Given the description of an element on the screen output the (x, y) to click on. 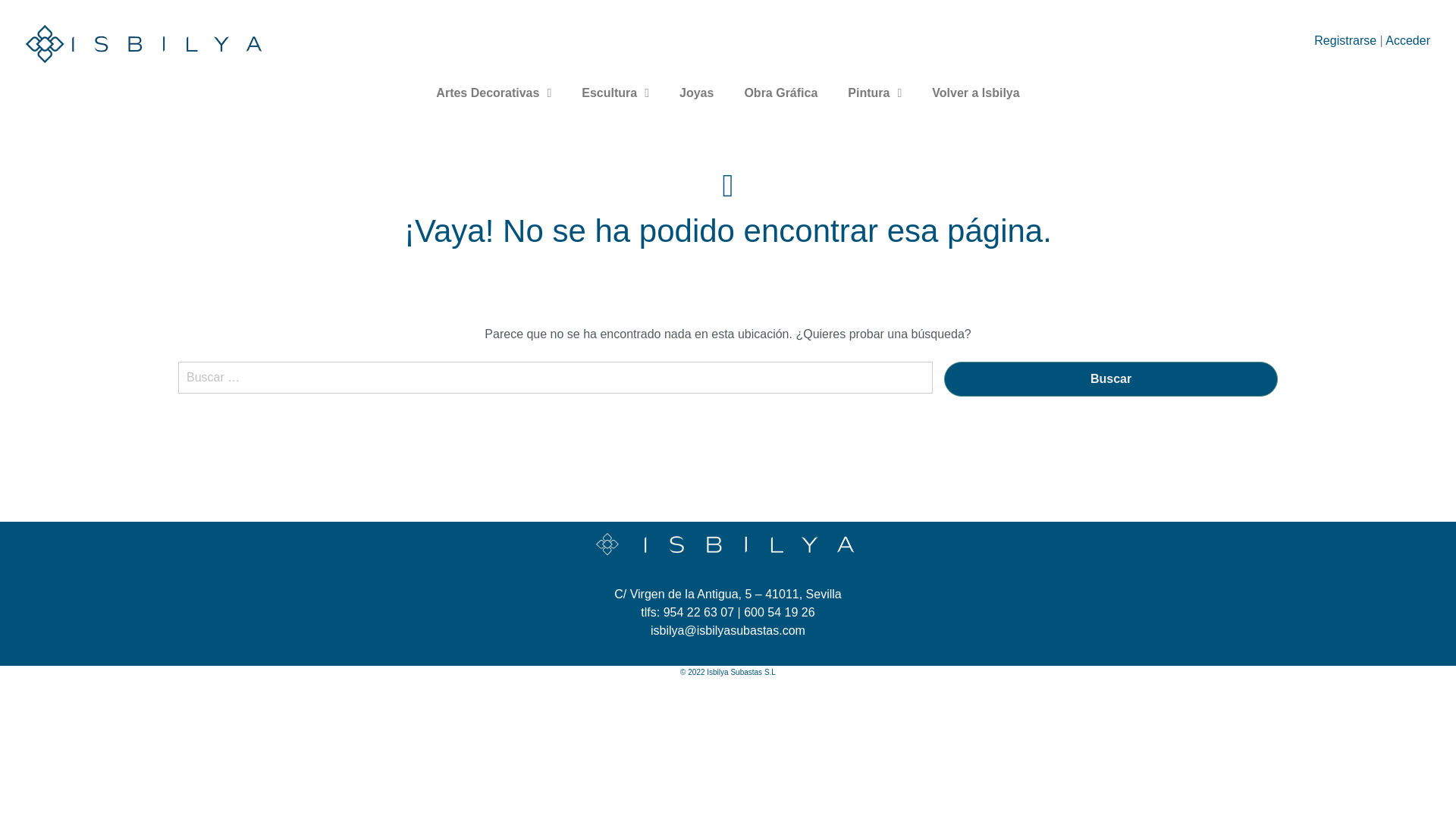
Registrarse (1344, 40)
Buscar (1110, 378)
Pintura (874, 93)
Volver a Isbilya (975, 93)
Buscar (1110, 378)
Escultura (614, 93)
Buscar (1110, 378)
Acceder (1407, 40)
Joyas (696, 93)
Artes Decorativas (493, 93)
